Given the description of an element on the screen output the (x, y) to click on. 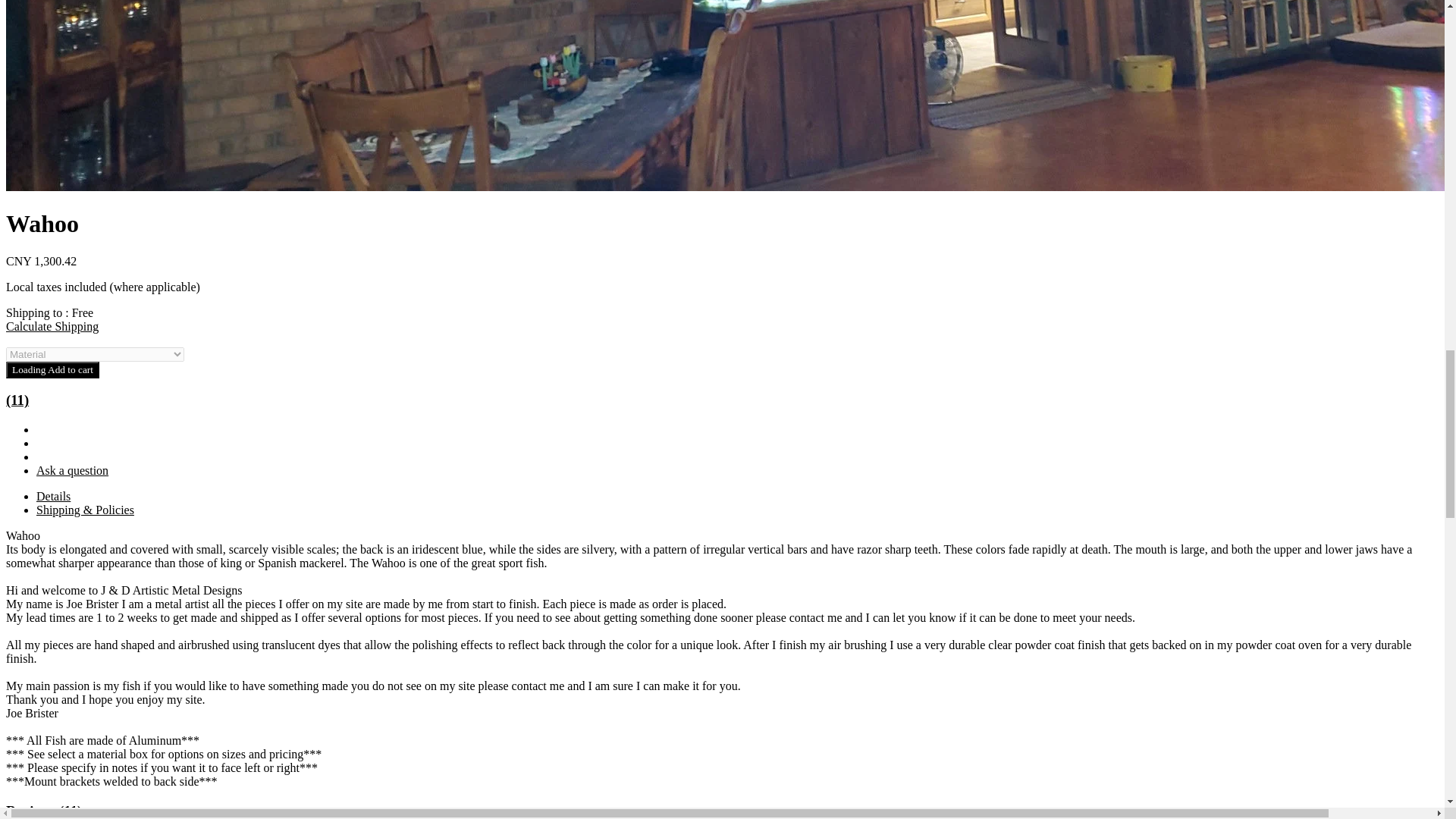
Ask a question (71, 470)
Details (52, 495)
Calculate Shipping (52, 326)
Loading Add to cart (52, 369)
